Given the description of an element on the screen output the (x, y) to click on. 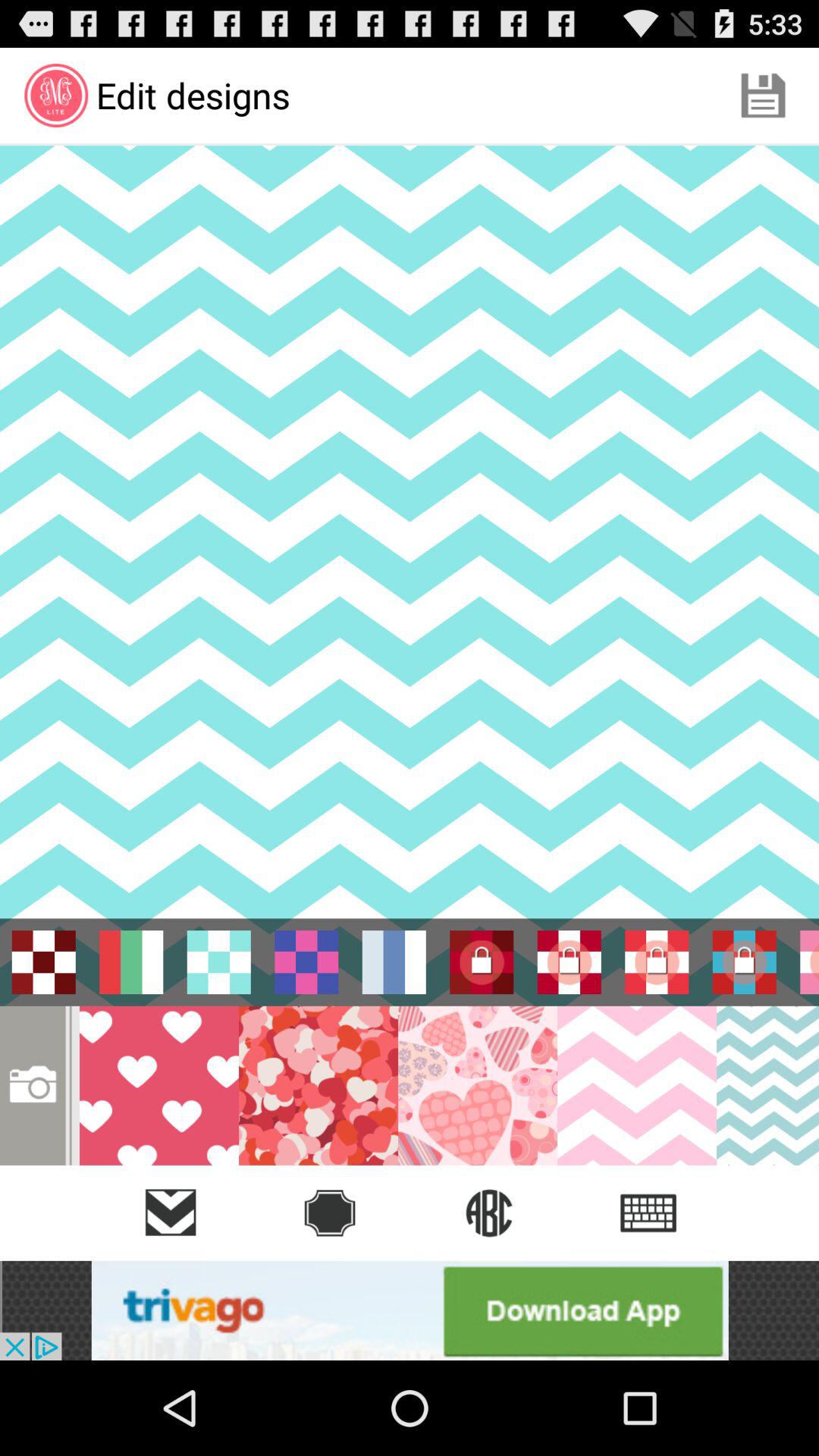
click the item at the top right corner (763, 95)
